Given the description of an element on the screen output the (x, y) to click on. 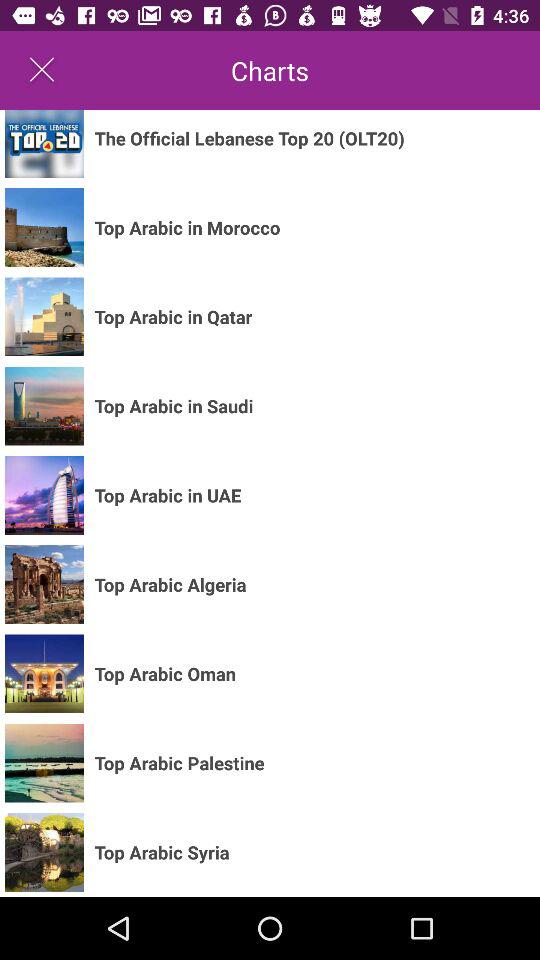
launch the item above the top arabic in icon (249, 137)
